Given the description of an element on the screen output the (x, y) to click on. 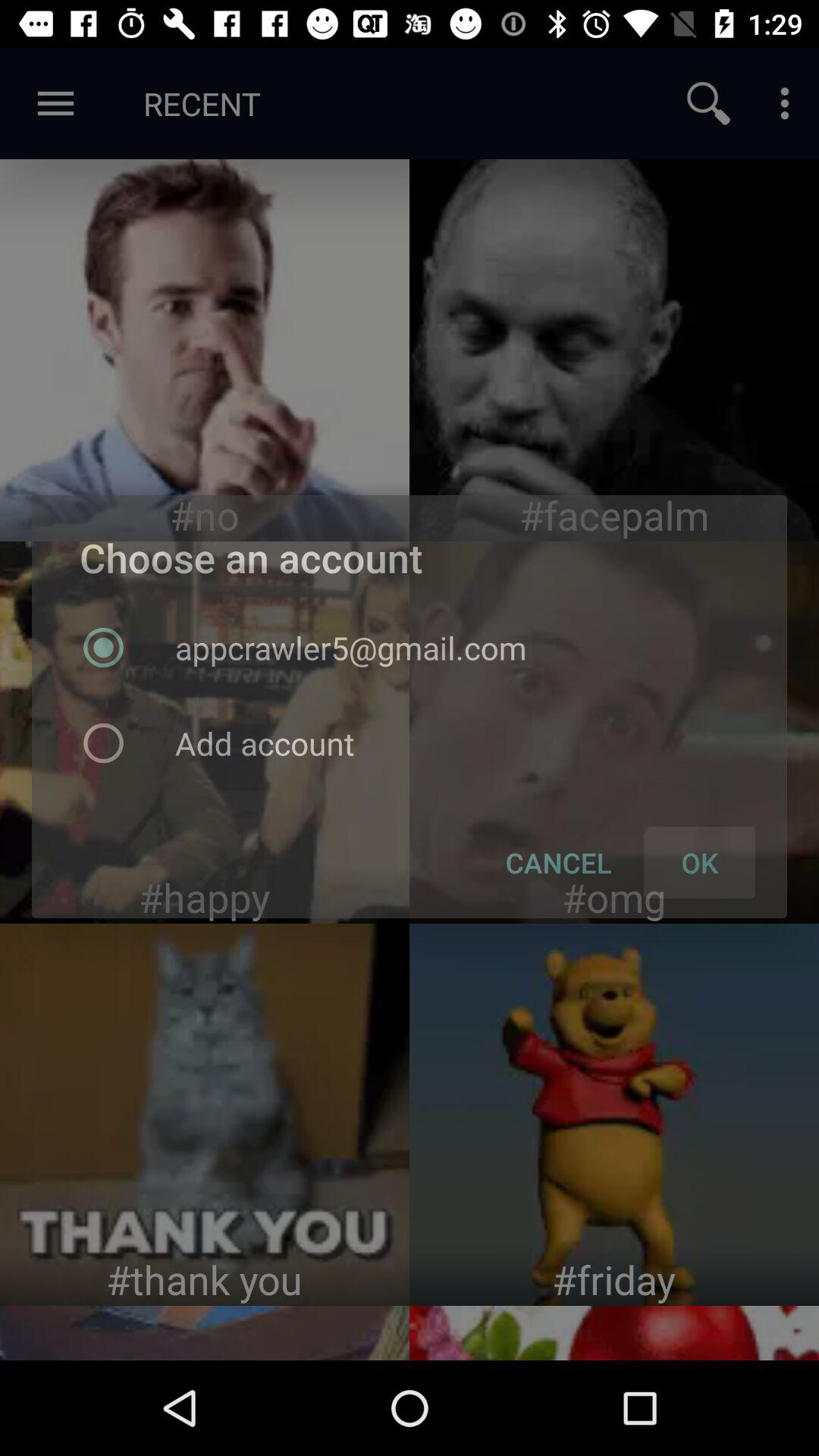
select image (614, 732)
